Given the description of an element on the screen output the (x, y) to click on. 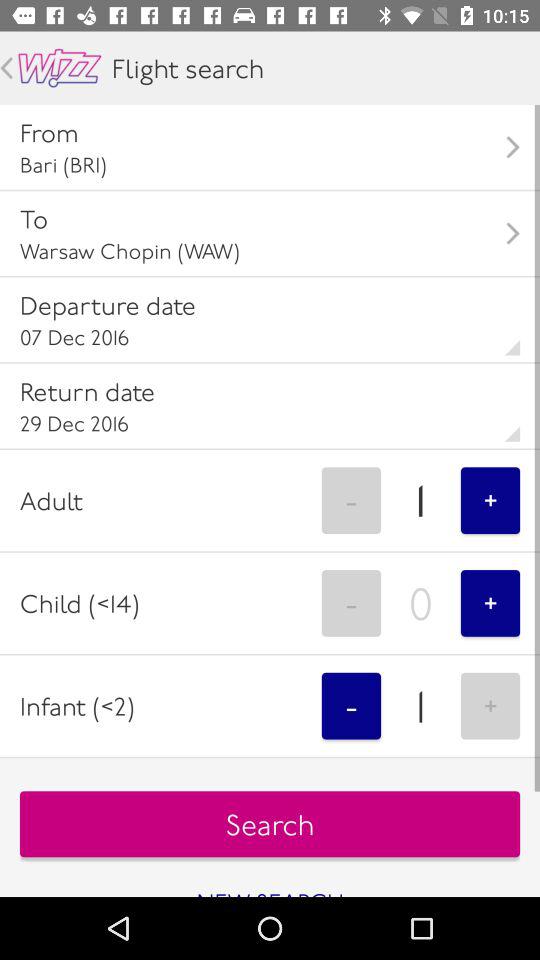
turn on item to the right of 1 item (490, 500)
